Given the description of an element on the screen output the (x, y) to click on. 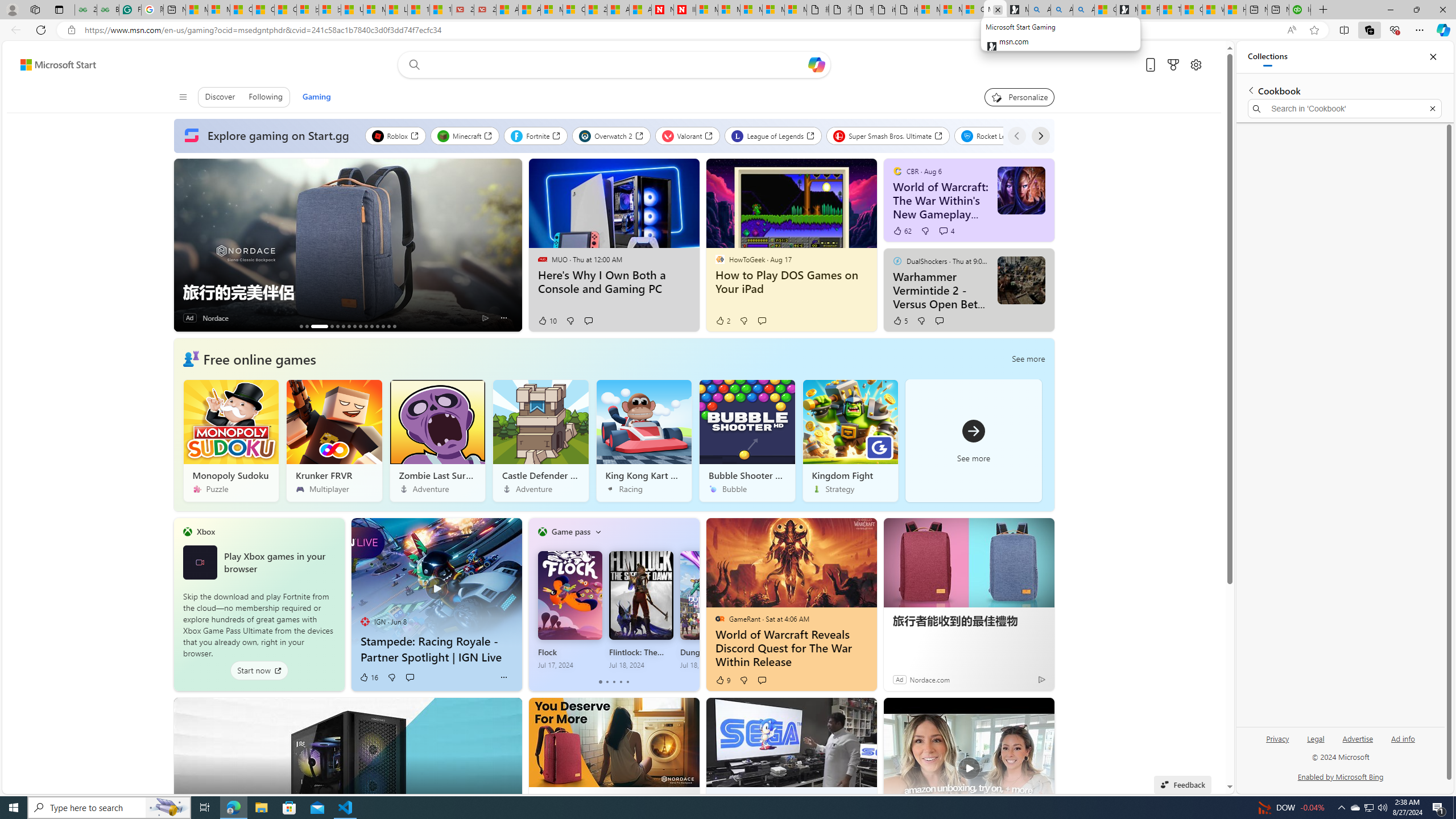
Newsweek - News, Analysis, Politics, Business, Technology (662, 9)
20 Ways to Boost Your Protein Intake at Every Meal (595, 9)
2 Like (722, 320)
Roblox (395, 135)
Free online games See more (613, 424)
Get $450 Savings on Dell G16 Gaming Laptop (394, 326)
21 Movies That Outdid the Books They Were Based On (484, 9)
Class: next-flipper (693, 604)
AutomationID: tab_nativead-infopane-3 (318, 326)
DualShockers (897, 260)
How to Use a TV as a Computer Monitor (1235, 9)
Search in 'Cookbook' (1345, 108)
Gaming (316, 96)
